Given the description of an element on the screen output the (x, y) to click on. 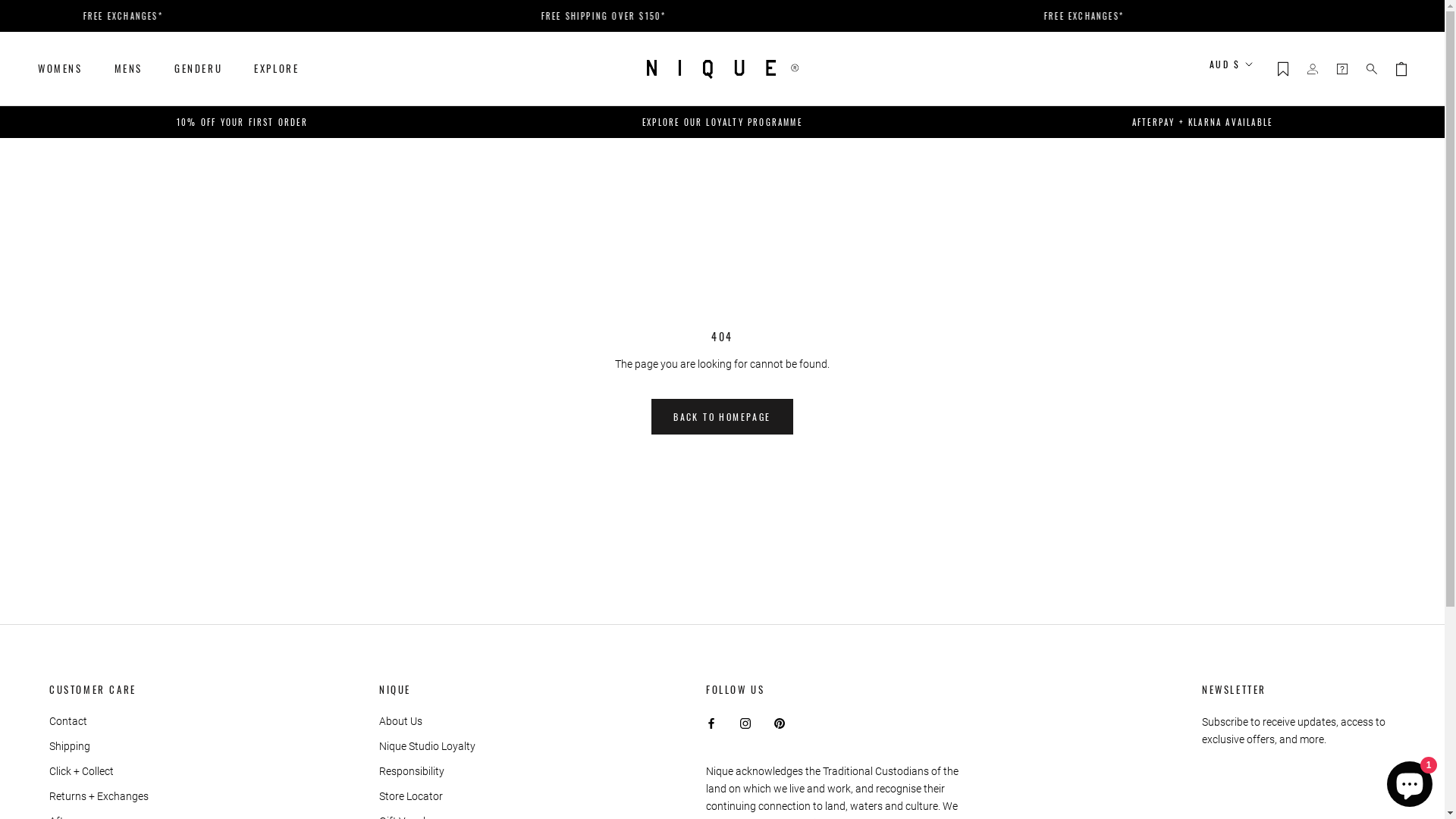
Shipping Element type: text (98, 746)
BACK TO HOMEPAGE Element type: text (721, 416)
VND Element type: text (1254, 730)
FJD Element type: text (1254, 301)
EUR Element type: text (1254, 278)
CZK Element type: text (1254, 233)
BGN Element type: text (1254, 143)
CNY Element type: text (1254, 211)
FREE SHIPPING OVER $150* Element type: text (148, 15)
EXPLORE OUR LOYALTY PROGRAMME Element type: text (722, 122)
Contact Element type: text (98, 721)
WOMENS
WOMENS Element type: text (59, 67)
AUD Element type: text (1254, 120)
Responsibility Element type: text (427, 771)
JPY Element type: text (1254, 437)
AED Element type: text (1254, 98)
HUF Element type: text (1254, 368)
FREE EXCHANGES* Element type: text (627, 15)
PLN Element type: text (1254, 572)
MENS
MENS Element type: text (128, 67)
EXPLORE
EXPLORE Element type: text (276, 67)
RON Element type: text (1254, 594)
MOP Element type: text (1254, 481)
SGD Element type: text (1254, 640)
AUD $ Element type: text (1231, 64)
MYR Element type: text (1254, 504)
ISK Element type: text (1254, 414)
About Us Element type: text (427, 721)
USD Element type: text (1254, 707)
KRW Element type: text (1254, 459)
NZD Element type: text (1254, 527)
DKK Element type: text (1254, 256)
CAD Element type: text (1254, 165)
SEK Element type: text (1254, 617)
HKD Element type: text (1254, 346)
INR Element type: text (1254, 391)
FREE SHIPPING OVER $150* Element type: text (1105, 15)
Nique Studio Loyalty Element type: text (427, 746)
TOP Element type: text (1254, 685)
GENDERU
GENDERU Element type: text (198, 67)
GBP Element type: text (1254, 324)
Click + Collect Element type: text (98, 771)
PHP Element type: text (1254, 550)
Shopify online store chat Element type: hover (1409, 780)
Store Locator Element type: text (427, 796)
CHF Element type: text (1254, 188)
10% OFF YOUR FIRST ORDER Element type: text (241, 122)
THB Element type: text (1254, 663)
Returns + Exchanges Element type: text (98, 796)
